Given the description of an element on the screen output the (x, y) to click on. 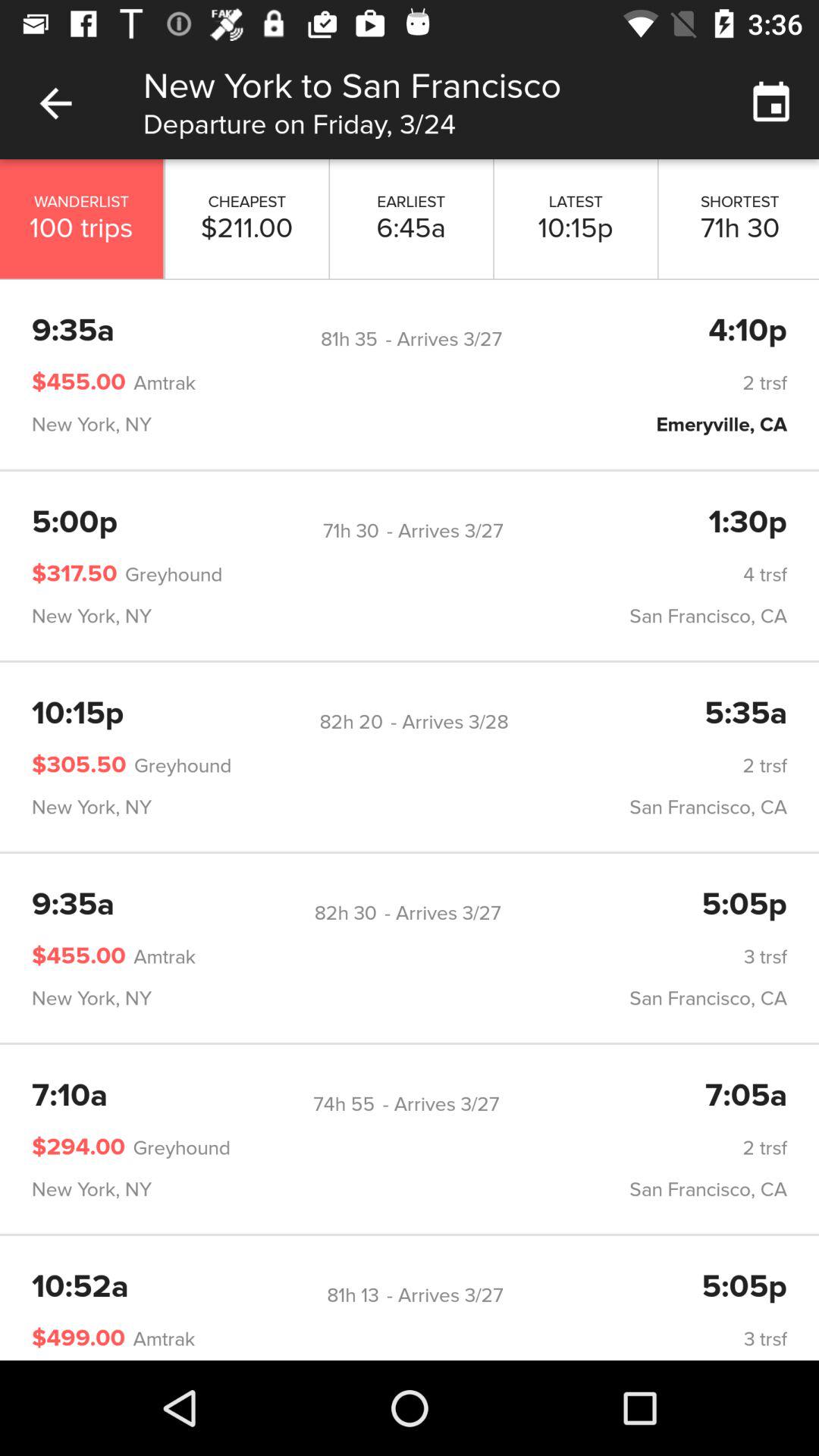
choose icon below the new york, ny (350, 722)
